Given the description of an element on the screen output the (x, y) to click on. 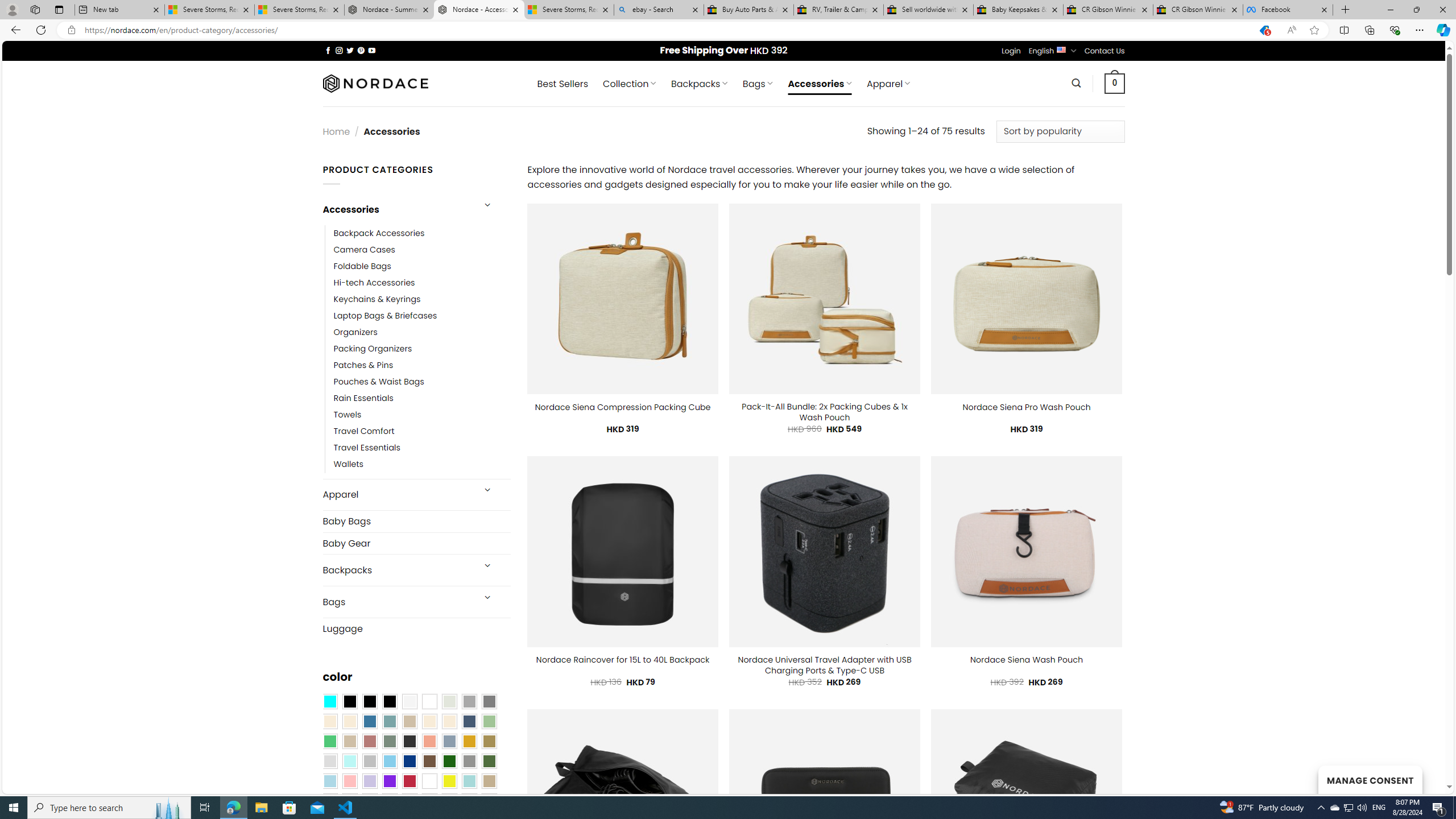
Nordace - Accessories (478, 9)
Light Green (488, 721)
Apparel (397, 494)
Shop order (1060, 131)
Bags (397, 602)
Nordace Siena Wash Pouch (1026, 659)
Nordace Siena Pro Wash Pouch (1026, 406)
Dusty Blue (449, 741)
Laptop Bags & Briefcases (422, 316)
Keychains & Keyrings (376, 298)
